Given the description of an element on the screen output the (x, y) to click on. 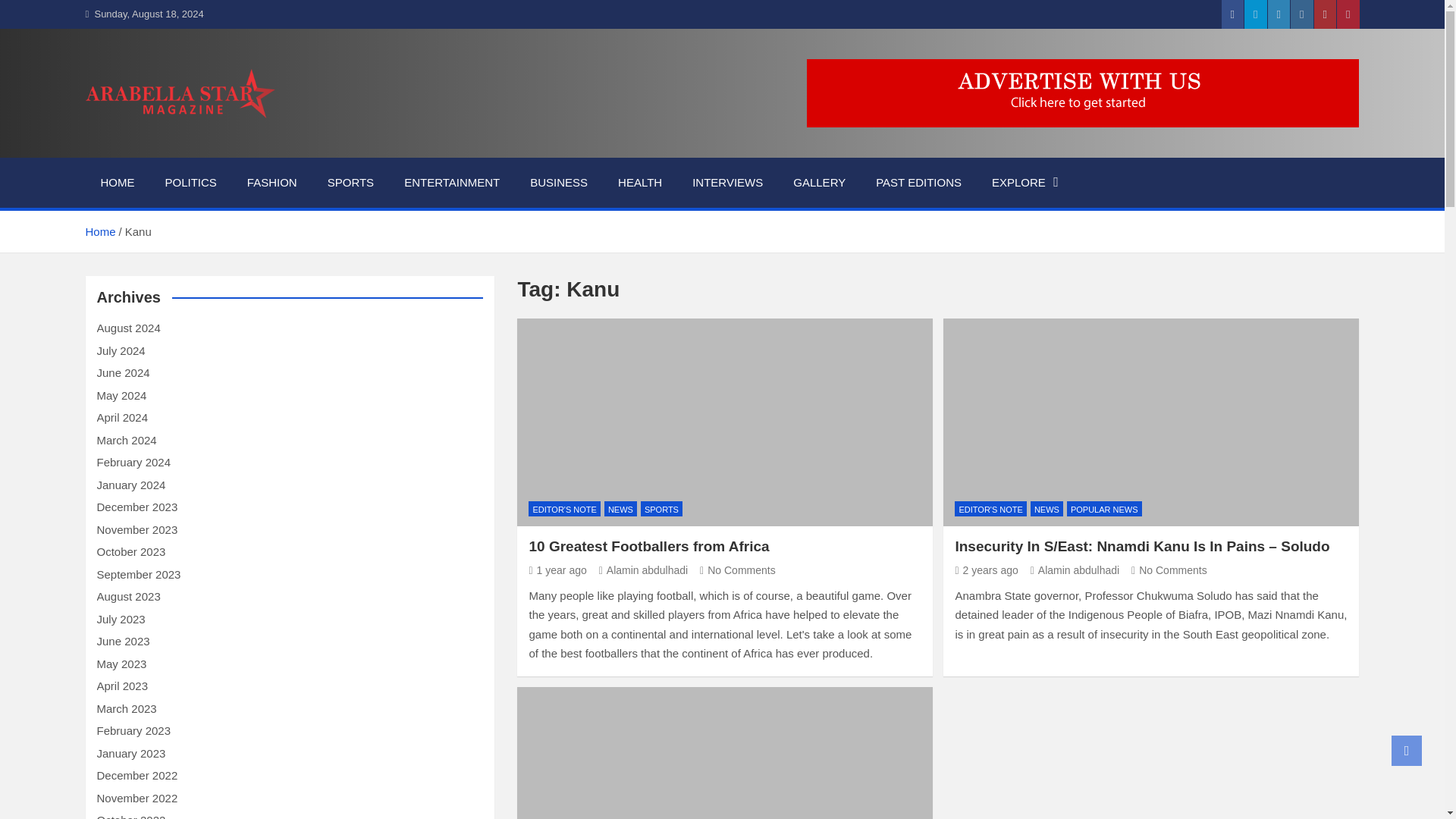
10 Greatest Footballers from Africa (557, 570)
10 Greatest Footballers from Africa (724, 422)
Arabella Star Magazine (250, 137)
EDITOR'S NOTE (563, 508)
PAST EDITIONS (918, 183)
No Comments (738, 570)
Go to Top (1406, 750)
BUSINESS (558, 183)
HOME (116, 183)
Home (99, 231)
